Given the description of an element on the screen output the (x, y) to click on. 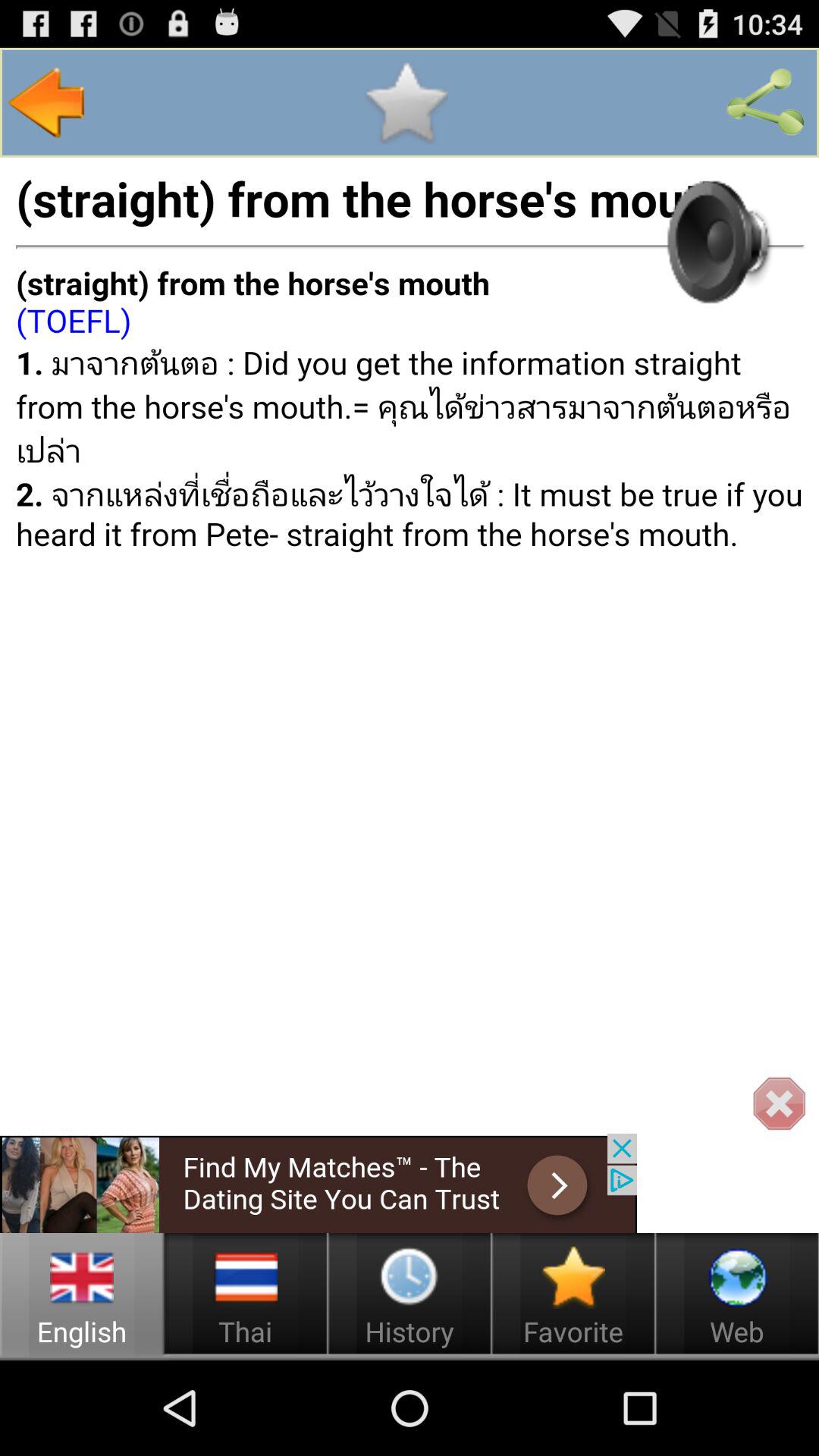
open advertisement (318, 1183)
